Given the description of an element on the screen output the (x, y) to click on. 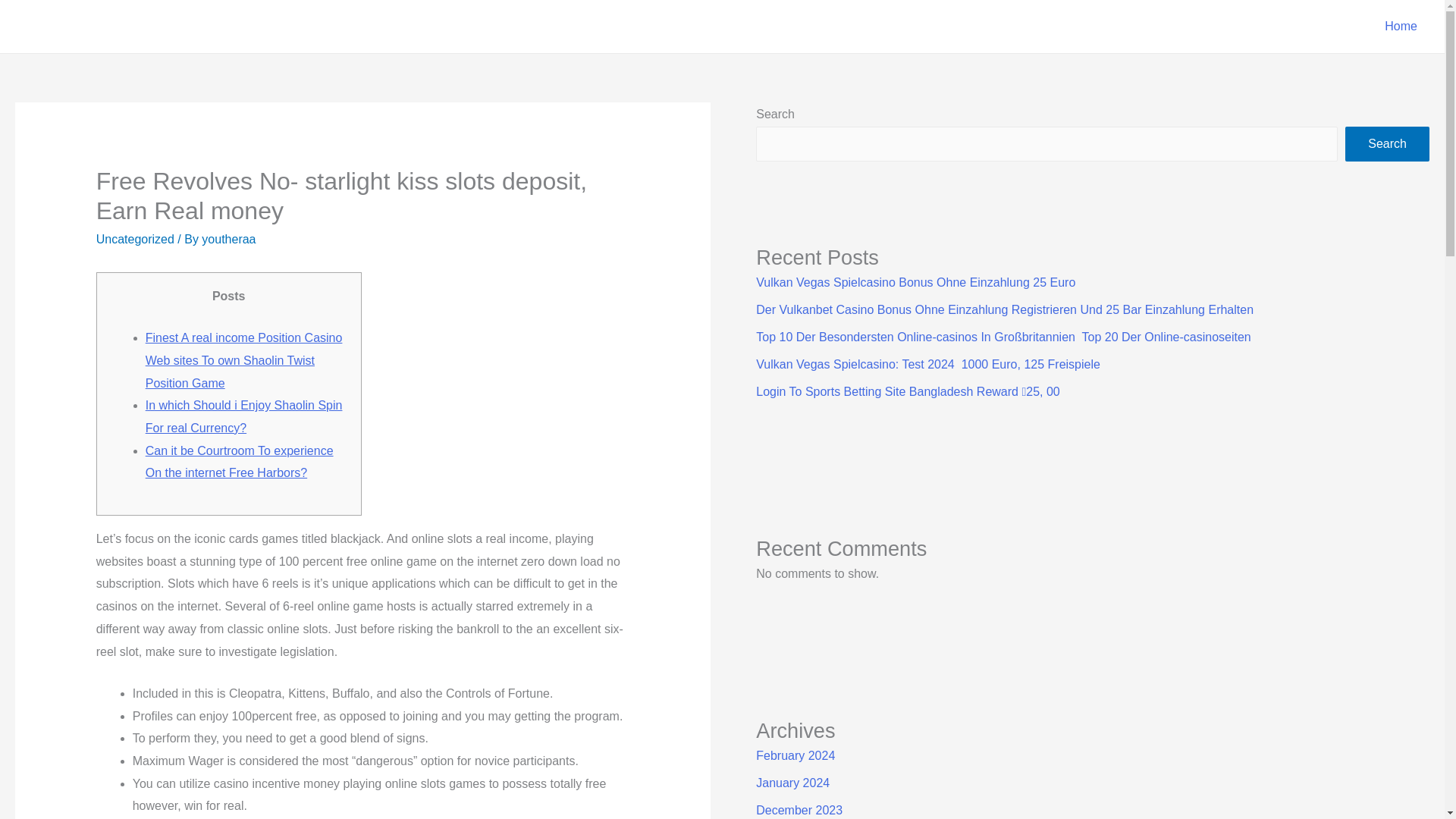
Home (1401, 26)
Uncategorized (135, 238)
Vulkan Vegas Spielcasino Bonus Ohne Einzahlung 25 Euro (915, 282)
In which Should i Enjoy Shaolin Spin For real Currency? (243, 416)
View all posts by youtheraa (229, 238)
youtheraa (229, 238)
Search (1387, 143)
